Given the description of an element on the screen output the (x, y) to click on. 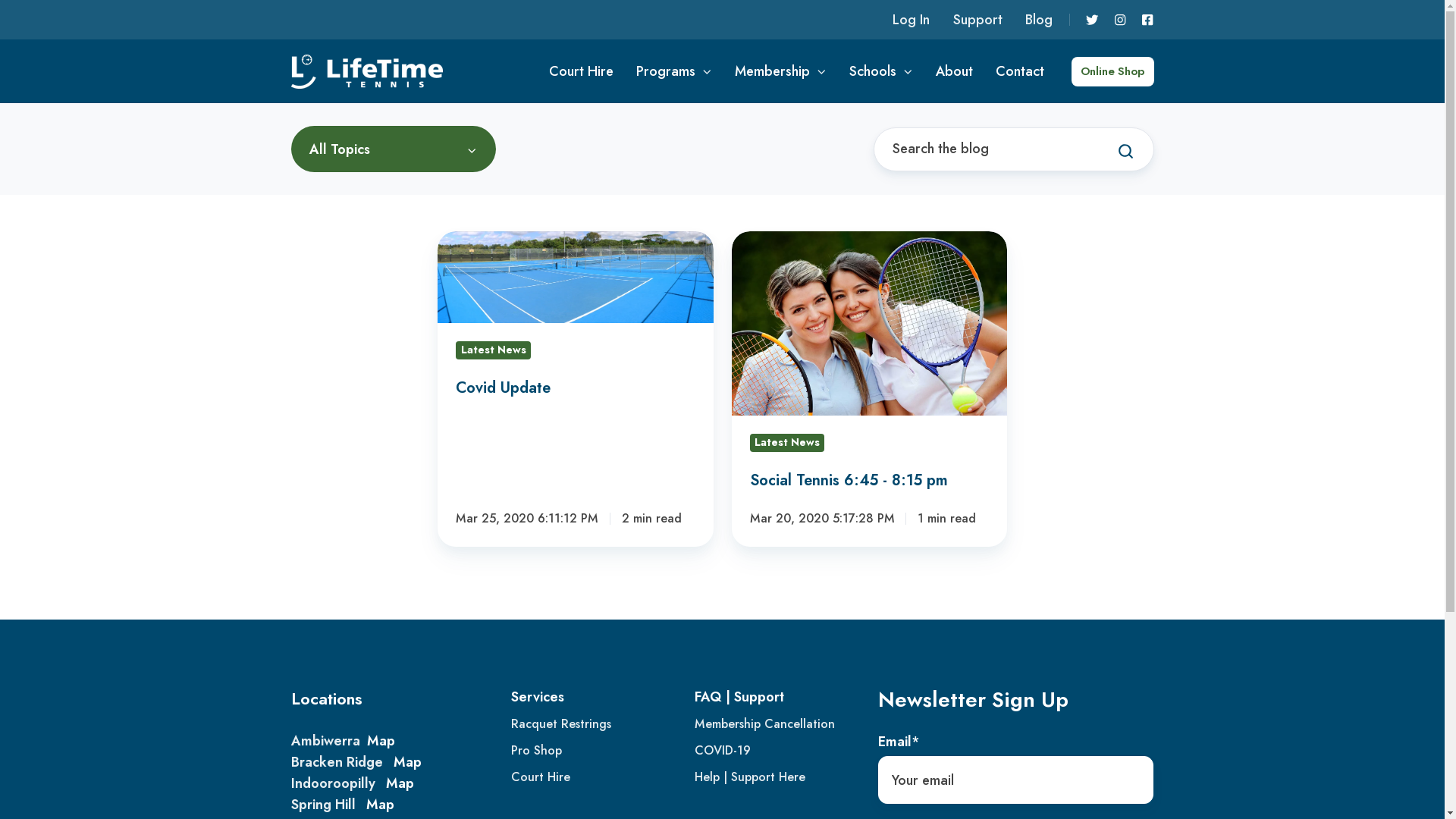
Map Element type: text (379, 804)
FAQ | Support Element type: text (739, 696)
All Topics Element type: text (393, 148)
Programs Element type: text (674, 71)
Court Hire Element type: text (540, 776)
Latest News Element type: text (786, 442)
COVID-19 Element type: text (722, 750)
Blog Element type: text (1038, 19)
Membership Cancellation Element type: text (764, 723)
Social Tennis 6:45 - 8:15 pm Element type: text (868, 388)
Pro Shop Element type: text (536, 750)
Latest News Element type: text (492, 350)
Support Element type: text (977, 19)
About Element type: text (953, 71)
Online Shop Element type: text (1112, 71)
LifeTime Tennis Logo Element type: hover (366, 71)
Map Element type: text (381, 740)
Log In Element type: text (910, 19)
Court Hire Element type: text (581, 71)
Help | Support Here Element type: text (749, 776)
Racquet Restrings Element type: text (561, 723)
Services Element type: text (537, 696)
Search the blog Element type: text (1125, 150)
Map Element type: text (399, 783)
Contact Element type: text (1019, 71)
Map Element type: text (406, 761)
Covid Update Element type: text (574, 388)
Membership Element type: text (780, 71)
Schools Element type: text (881, 71)
